Given the description of an element on the screen output the (x, y) to click on. 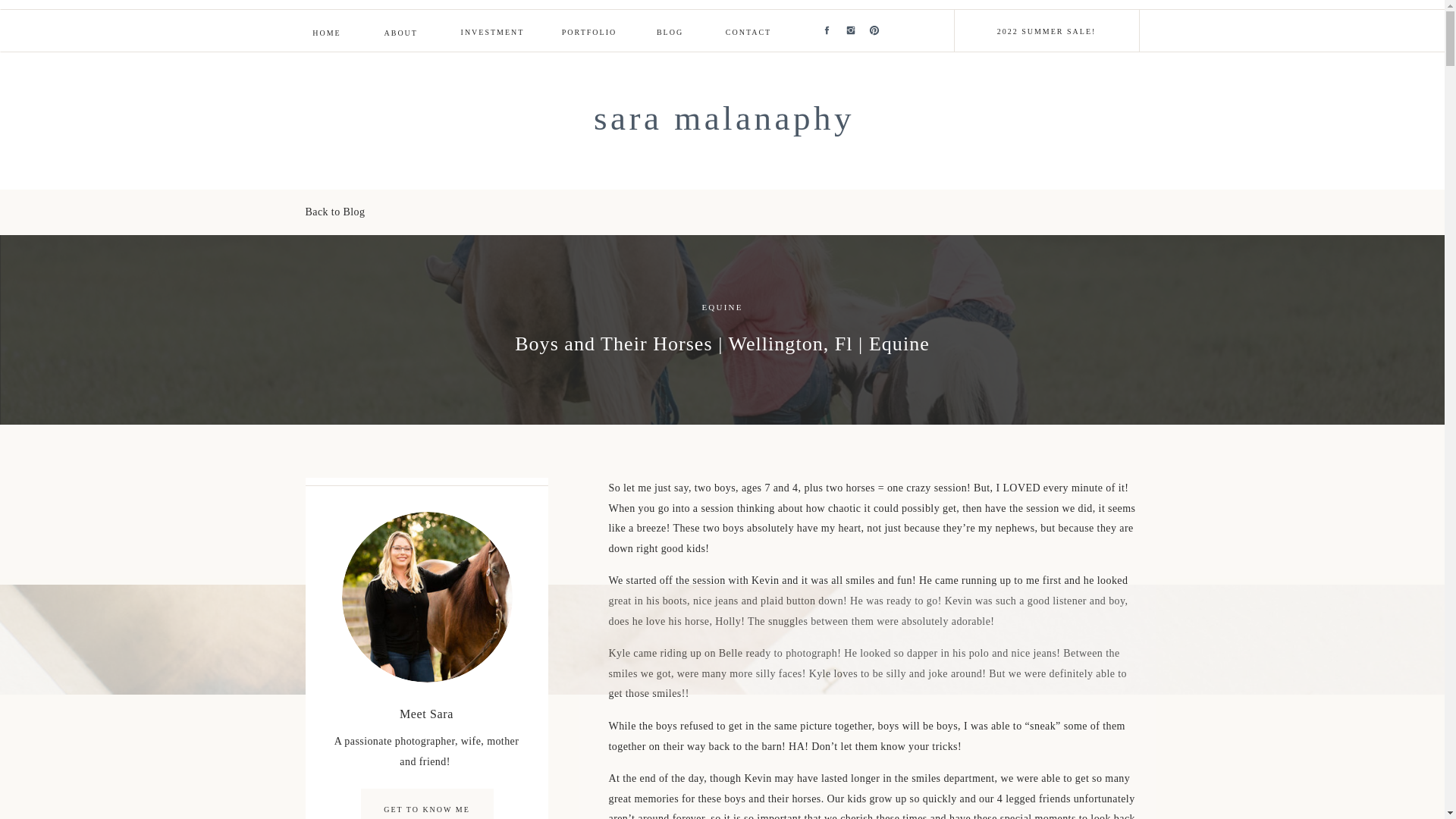
sara malanaphy (723, 120)
ABOUT (400, 32)
HOME (325, 32)
2022 SUMMER SALE! (1046, 30)
BLOG (669, 32)
EQUINE (721, 307)
CONTACT (748, 31)
PORTFOLIO (588, 31)
GET TO KNOW ME (427, 808)
Back to Blog (347, 212)
